Given the description of an element on the screen output the (x, y) to click on. 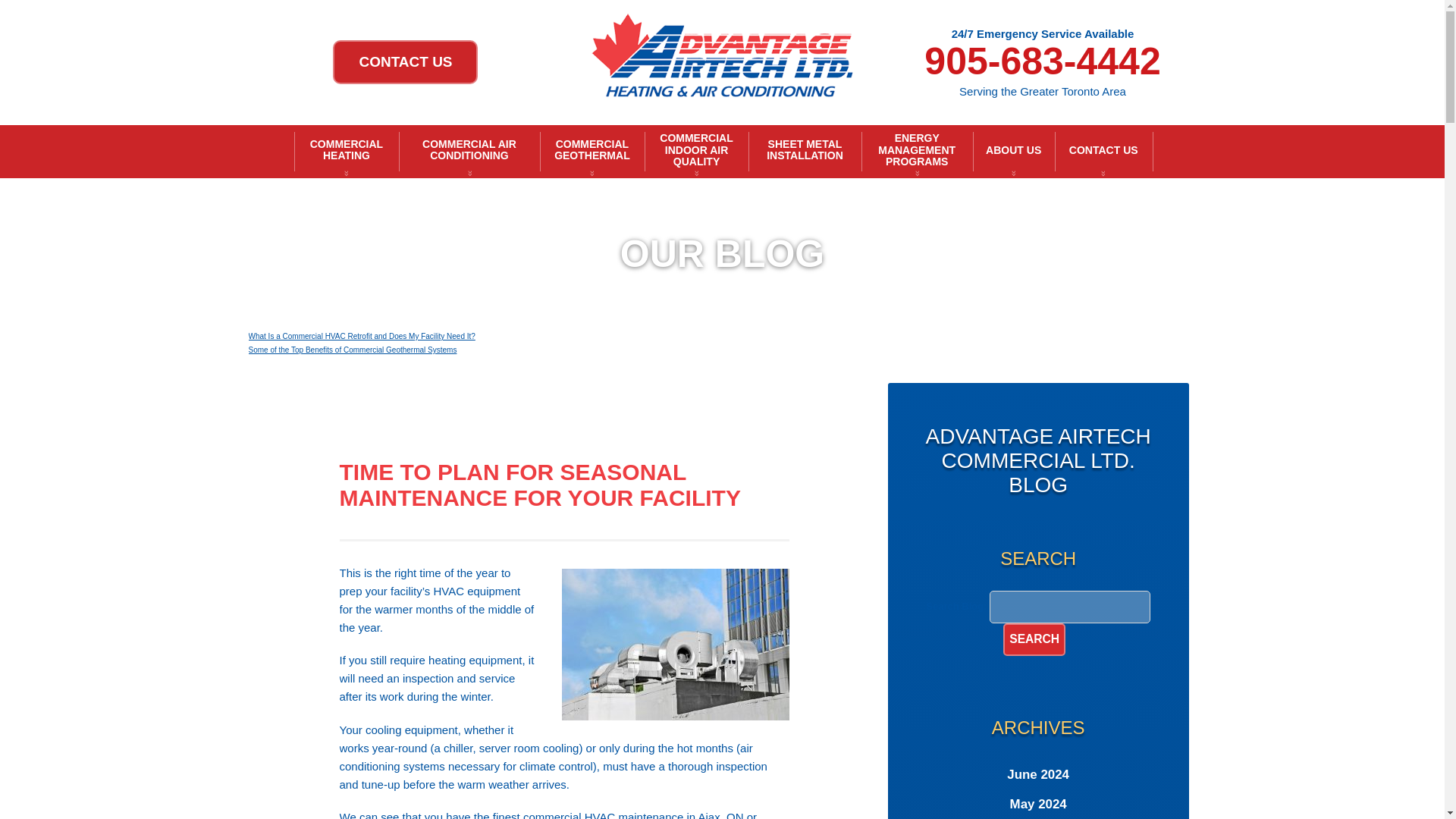
905-683-4442 (1042, 61)
CONTACT US (405, 61)
ENERGY MANAGEMENT PROGRAMS (916, 151)
COMMERCIAL GEOTHERMAL (592, 151)
COMMERCIAL AIR CONDITIONING (469, 151)
CONTACT US (405, 62)
COMMERCIAL HEATING (346, 151)
COMMERCIAL INDOOR AIR QUALITY (697, 151)
ABOUT US (1013, 151)
SHEET METAL INSTALLATION (804, 151)
